Given the description of an element on the screen output the (x, y) to click on. 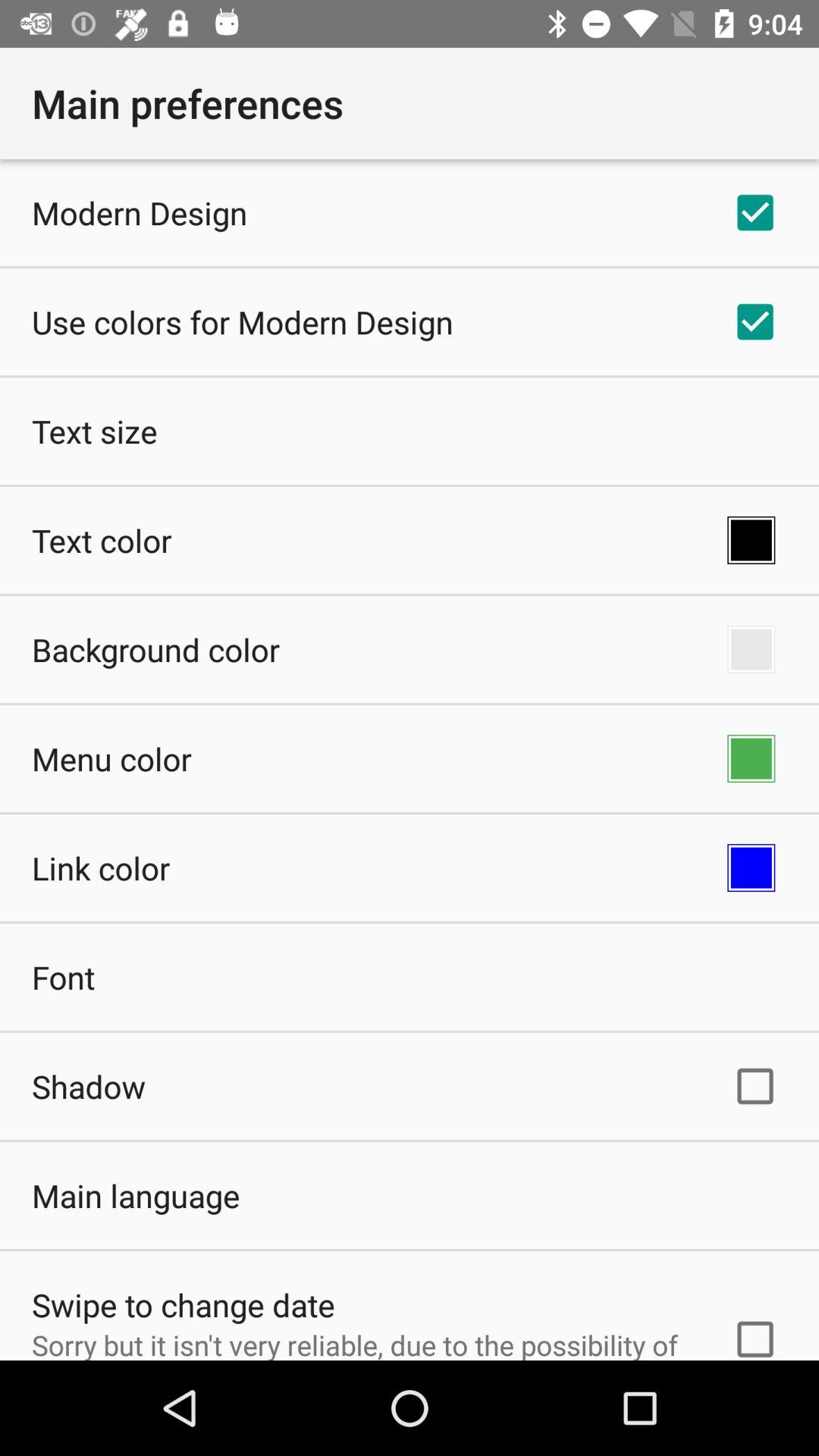
turn off the app above the shadow (62, 976)
